Given the description of an element on the screen output the (x, y) to click on. 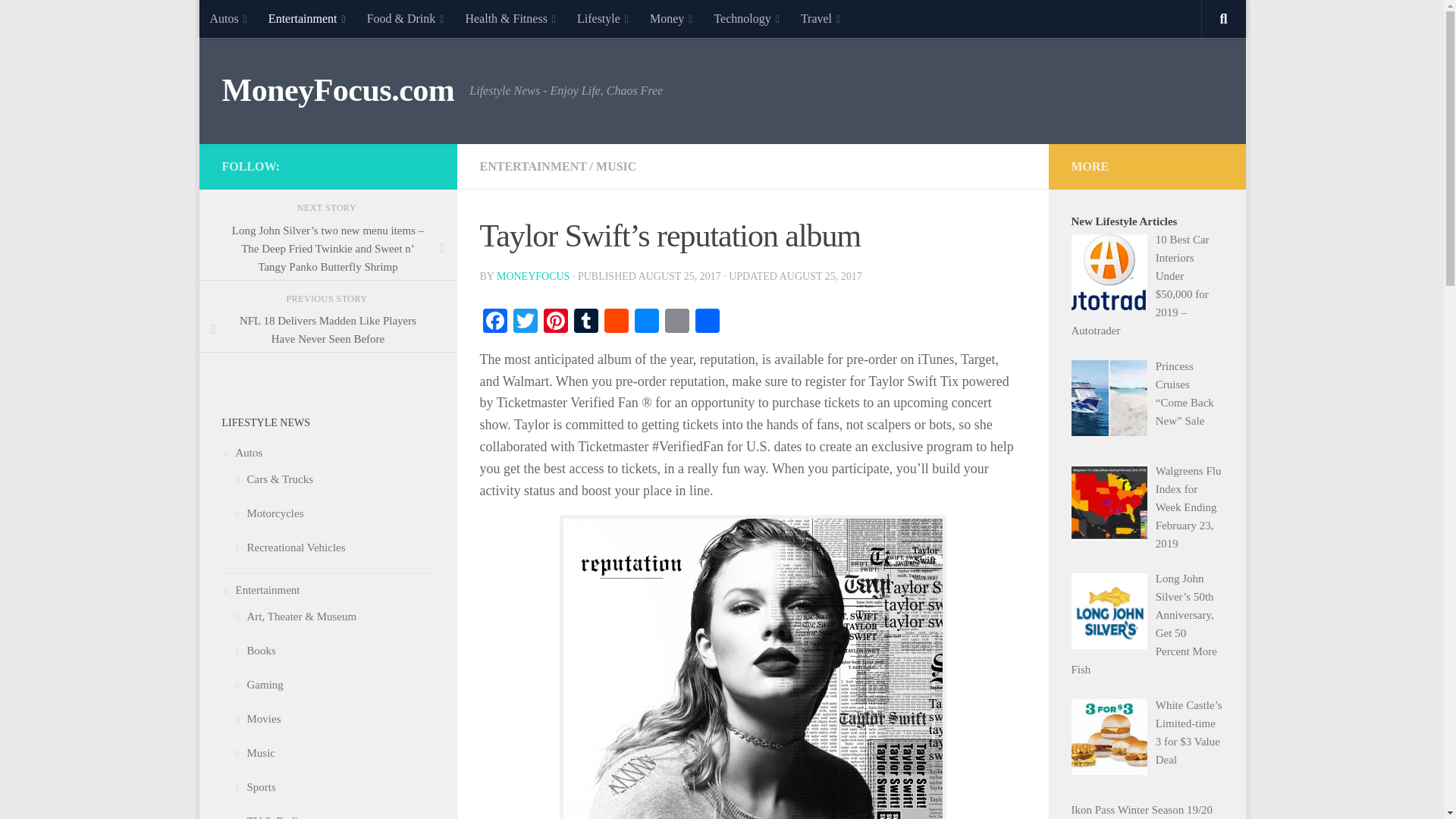
Facebook (494, 322)
Tumblr (584, 322)
Posts by MoneyFocus (532, 276)
Twitter (524, 322)
Pinterest (555, 322)
Messenger (645, 322)
Reddit (614, 322)
Print (676, 322)
Skip to content (258, 20)
